Given the description of an element on the screen output the (x, y) to click on. 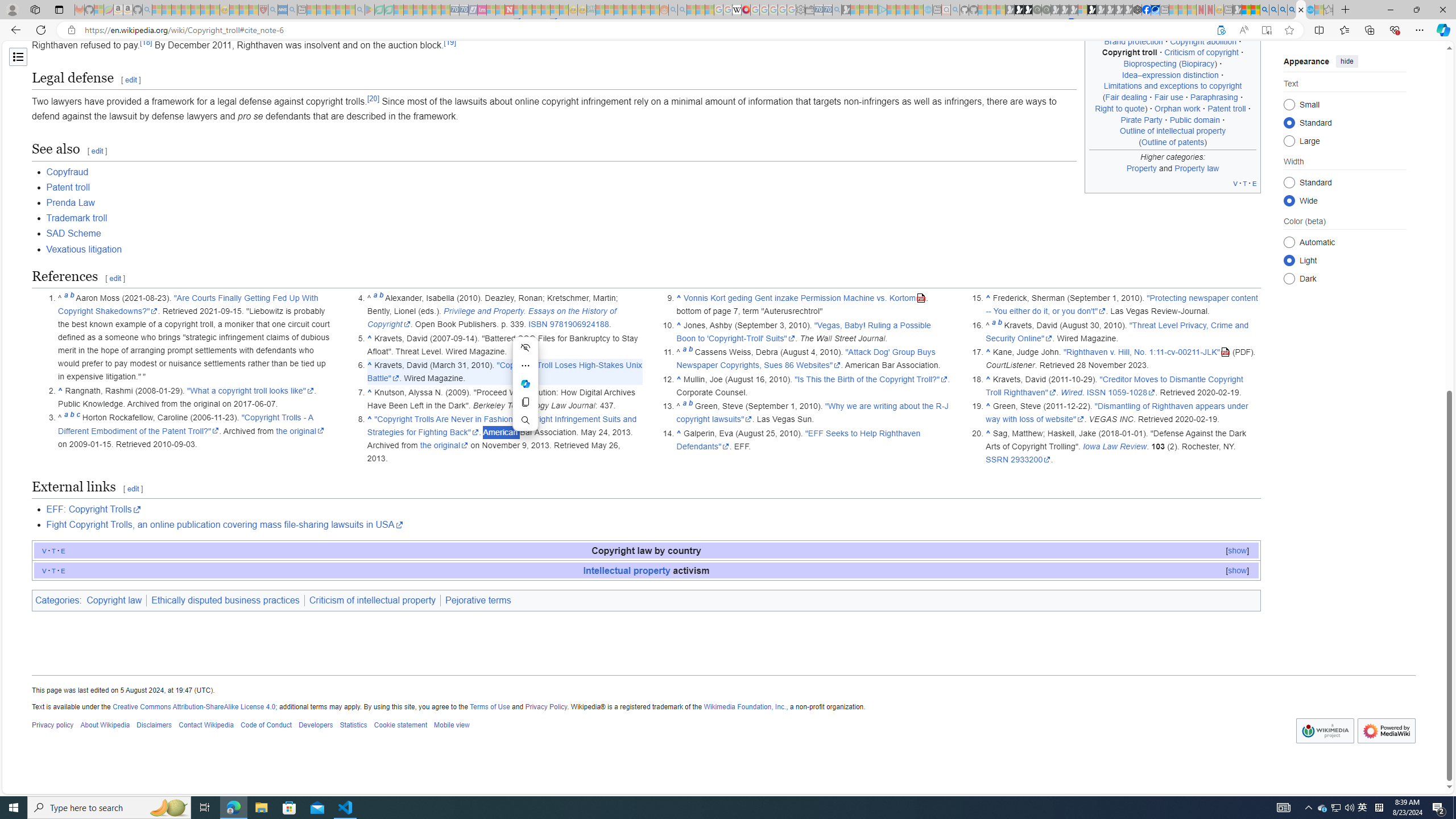
Target page - Wikipedia (736, 9)
Mobile view (451, 725)
Ask Copilot (525, 384)
Patent troll (653, 186)
Disclaimers (153, 725)
Wallet - Sleeping (809, 9)
Bing AI - Search (1264, 9)
